Given the description of an element on the screen output the (x, y) to click on. 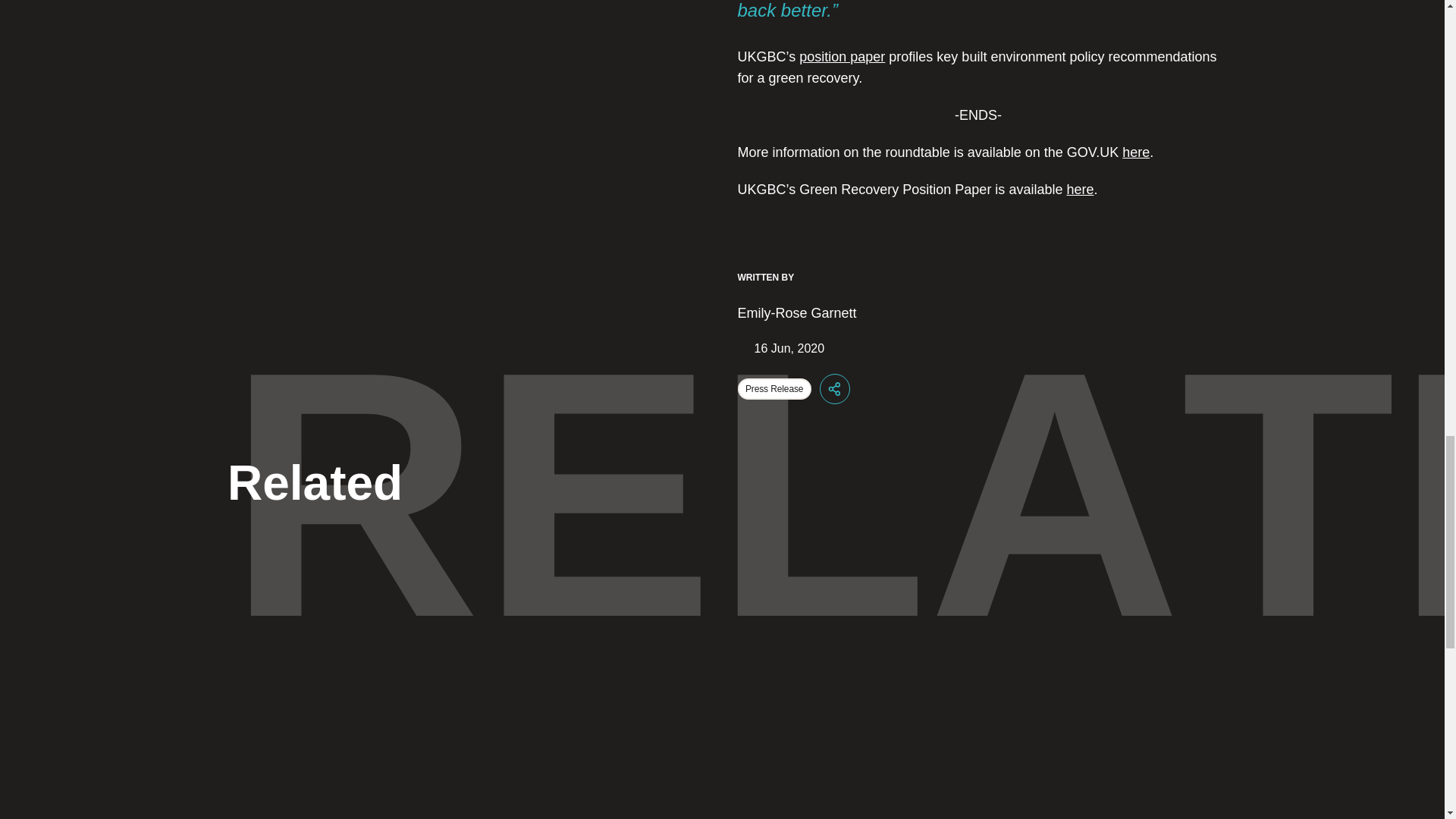
here (1136, 151)
Press Release (773, 388)
Share (834, 388)
here (1079, 189)
position paper (842, 56)
